Given the description of an element on the screen output the (x, y) to click on. 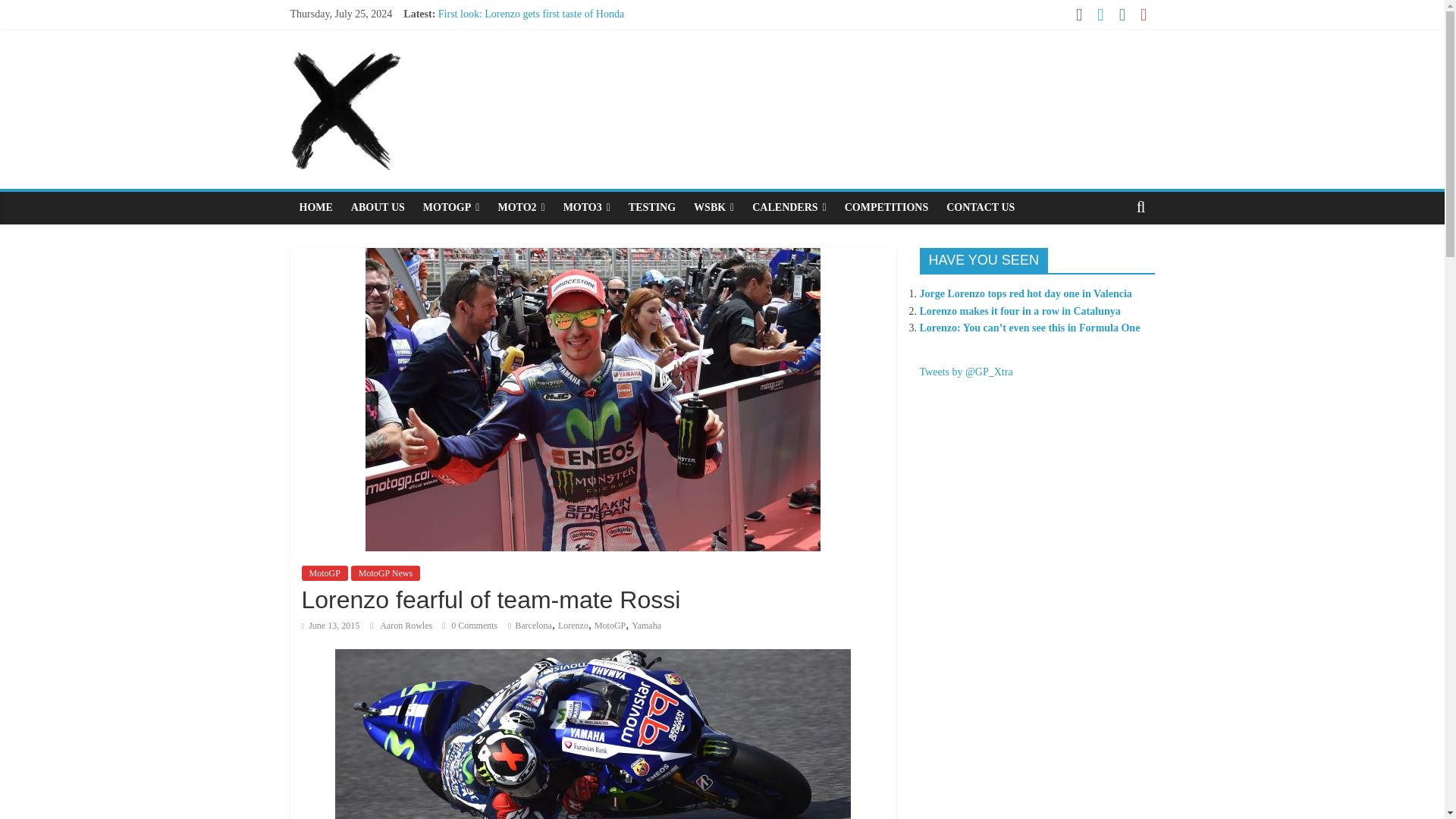
Lorenzo beats Marquez in Austrian battle (526, 64)
MotoGP News (385, 572)
Lorenzo beats Marquez in Austrian battle (526, 64)
Rookies enjoy first days as MotoGP riders (527, 81)
MOTOGP (451, 207)
ABOUT US (377, 207)
CALENDERS (788, 207)
Lorenzo: I had to fight with a monster (518, 48)
Lorenzo: I had to fight with a monster (518, 48)
Aaron Rowles (406, 624)
CONTACT US (980, 207)
Marquez wanted to fight with one Ducati at the end (548, 30)
TESTING (652, 207)
Marquez wanted to fight with one Ducati at the end (548, 30)
HOME (314, 207)
